Given the description of an element on the screen output the (x, y) to click on. 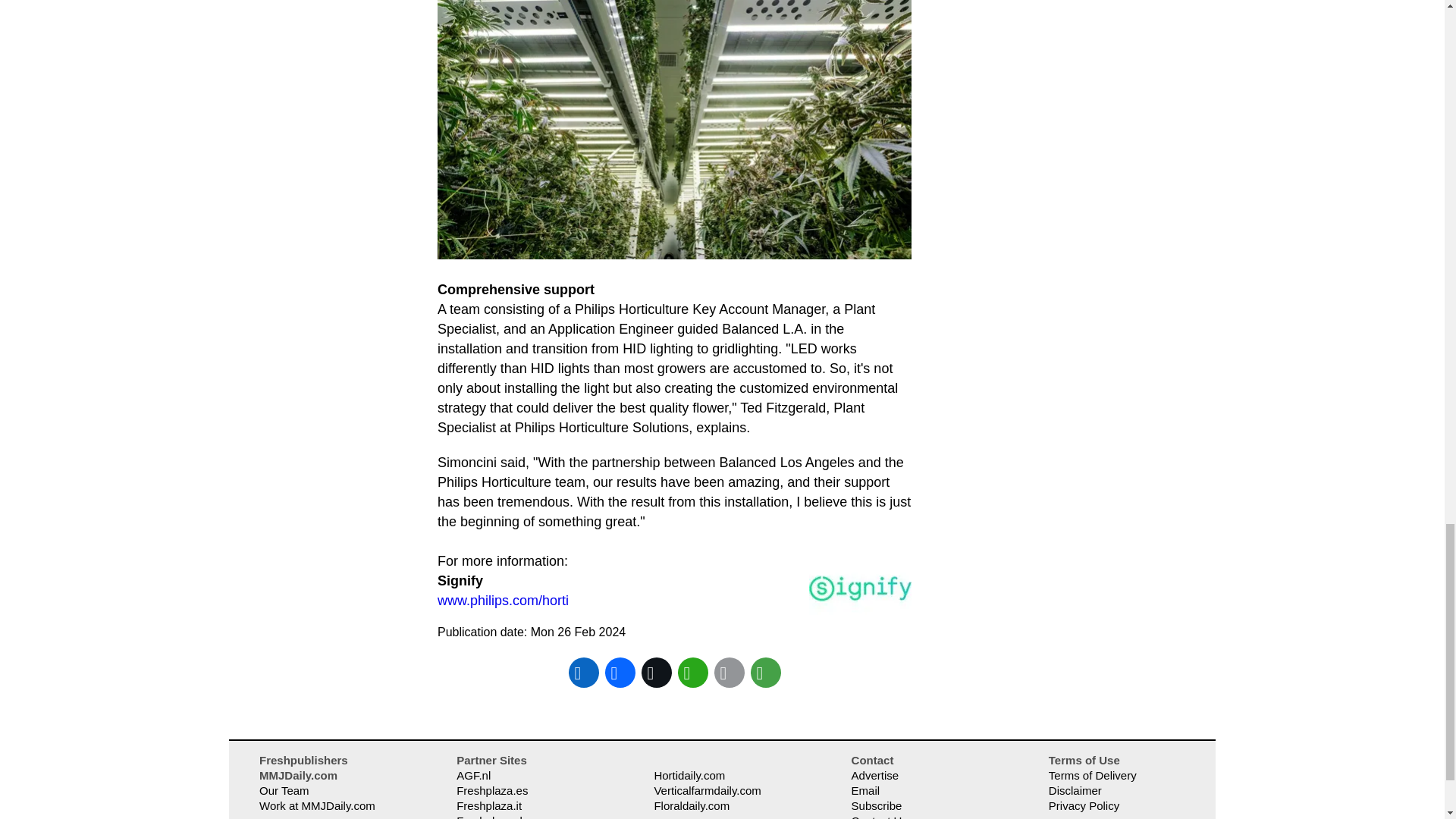
WhatsApp (693, 672)
Email This (729, 672)
LinkedIn (584, 672)
More Options (766, 672)
Facebook (620, 672)
